Given the description of an element on the screen output the (x, y) to click on. 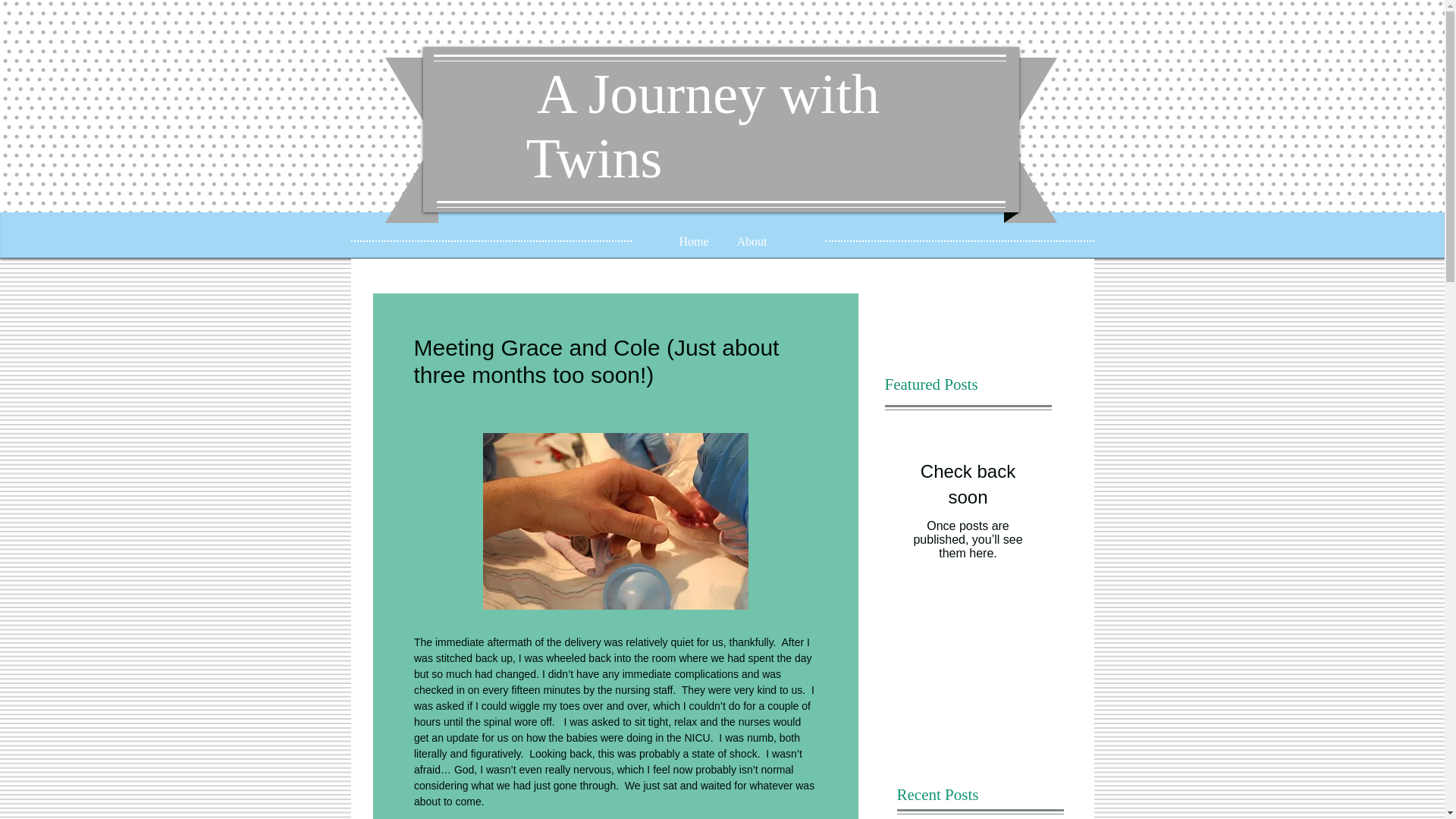
Home (693, 241)
About (751, 241)
 A Journey with Twins (702, 126)
